Given the description of an element on the screen output the (x, y) to click on. 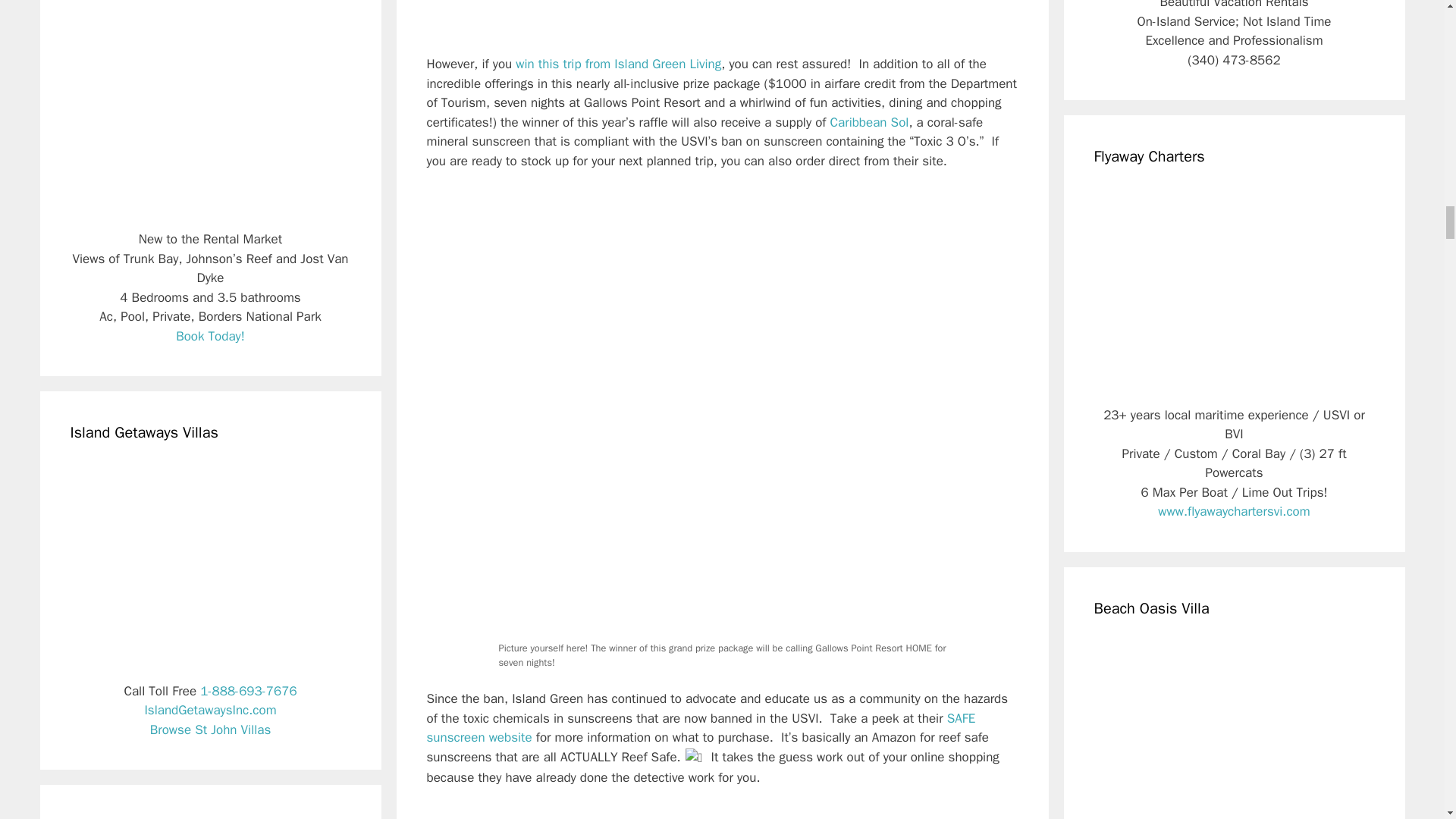
SAFE sunscreen website (700, 728)
Caribbean Sol (868, 122)
win this trip from Island Green Living (617, 64)
